Given the description of an element on the screen output the (x, y) to click on. 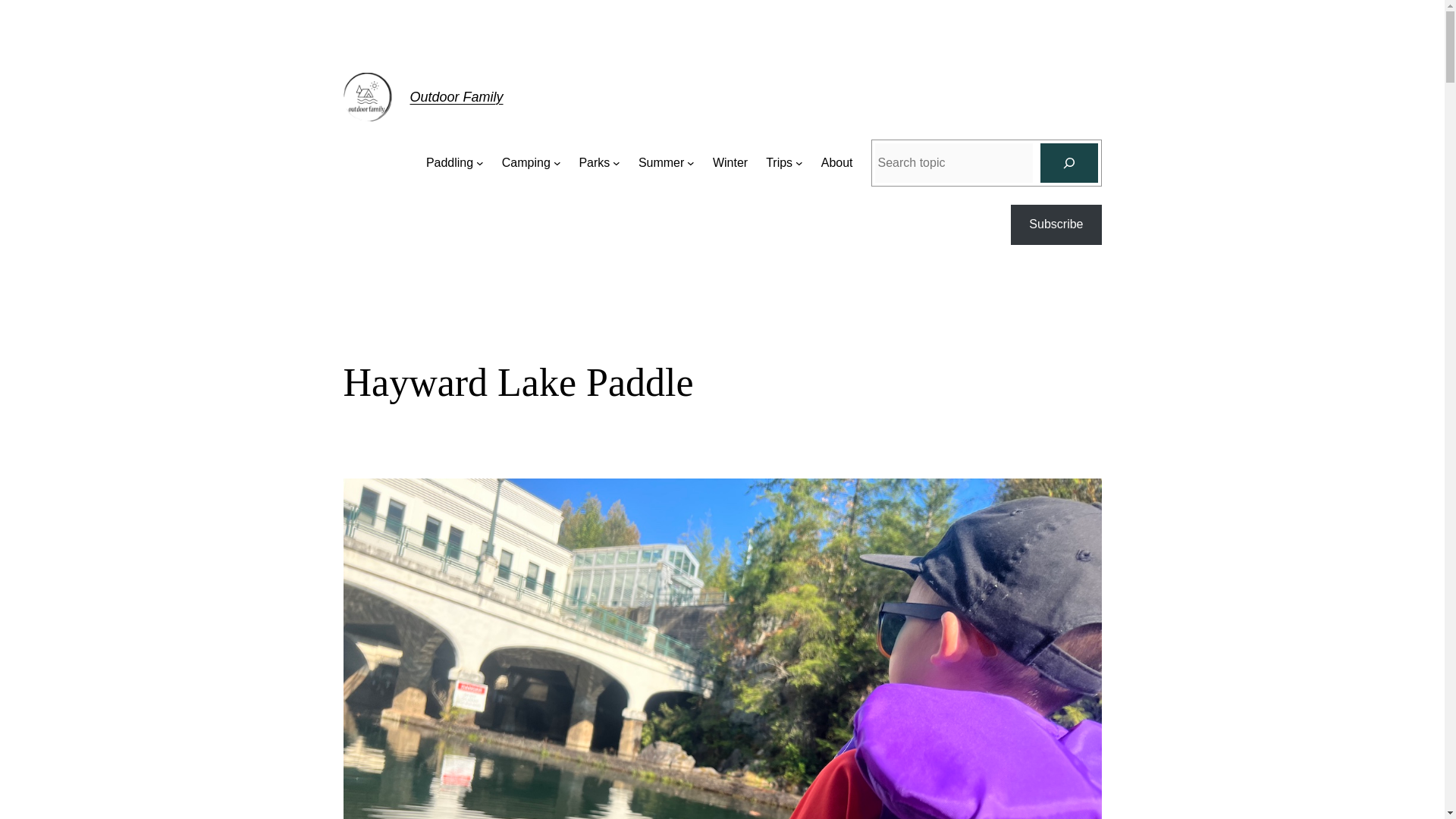
Camping (526, 162)
Summer (661, 162)
About (837, 162)
Trips (778, 162)
Winter (730, 162)
Subscribe (1055, 224)
Outdoor Family (455, 96)
Paddling (449, 162)
Parks (594, 162)
